Given the description of an element on the screen output the (x, y) to click on. 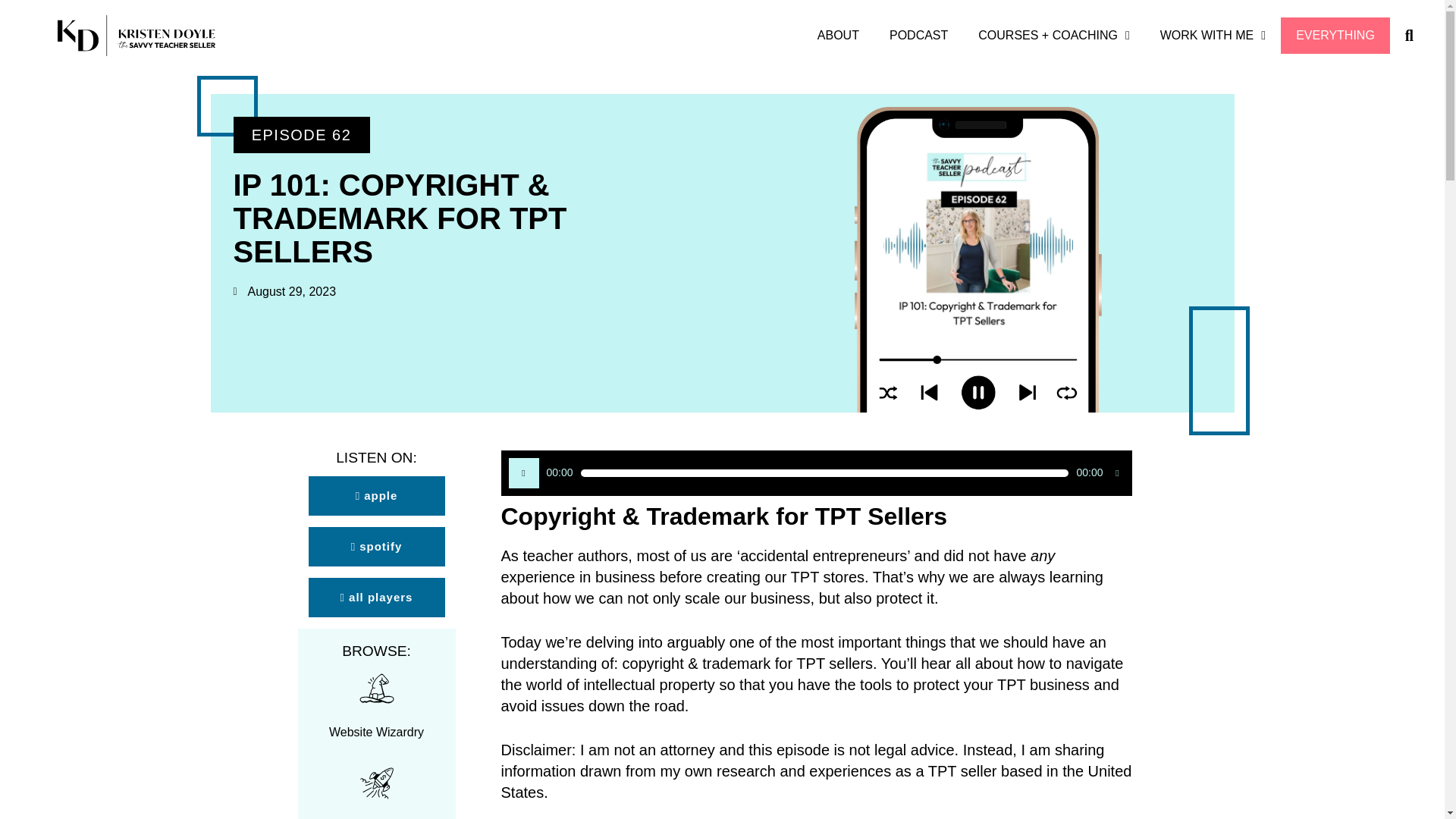
apple (375, 495)
Play (523, 472)
Mute (1116, 472)
EVERYTHING (1335, 35)
all players (375, 597)
ABOUT (838, 35)
spotify (375, 546)
Website Wizardry (376, 731)
WORK WITH ME (1212, 35)
PODCAST (918, 35)
